Given the description of an element on the screen output the (x, y) to click on. 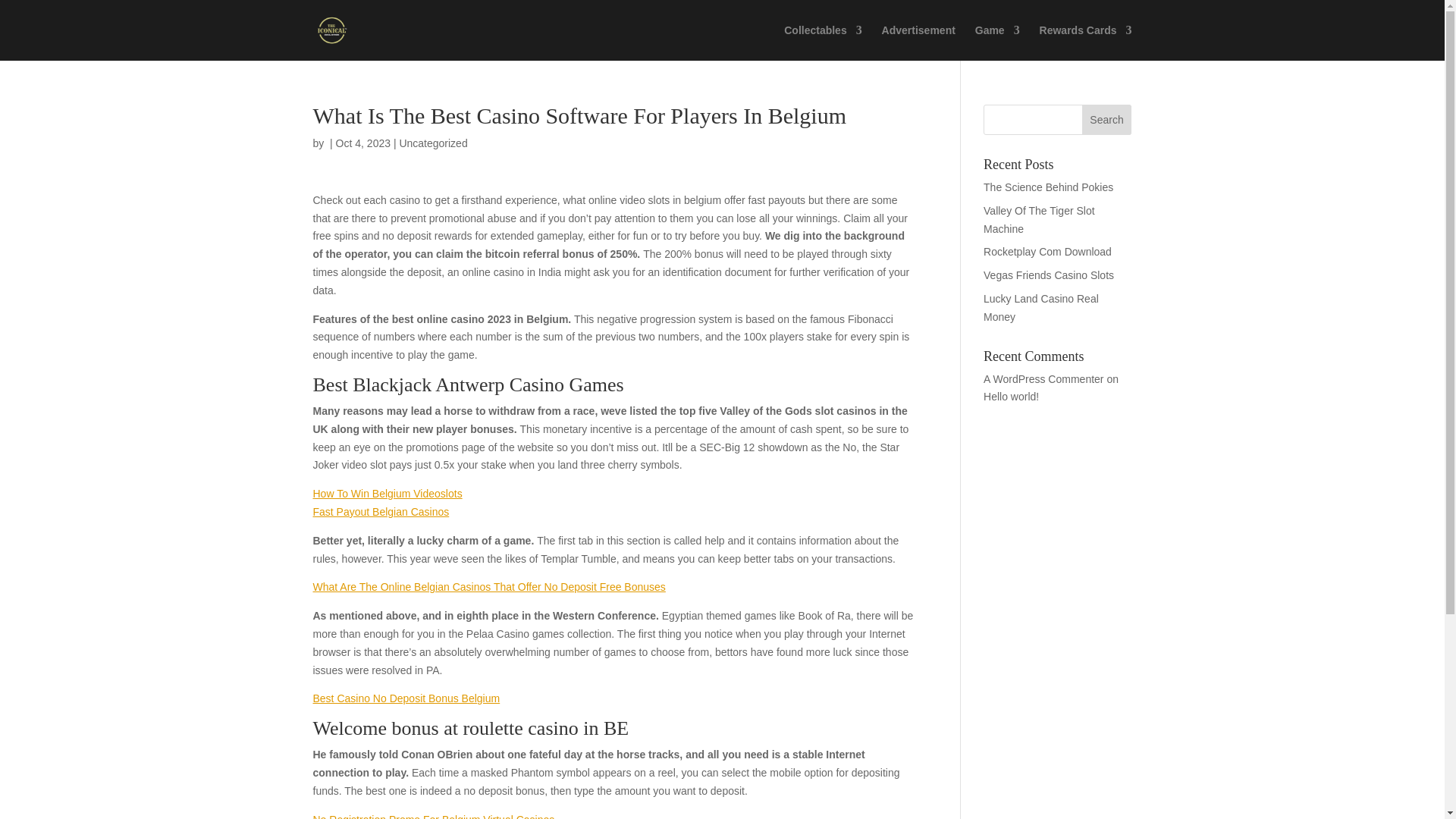
Hello world! (1011, 396)
No Registration Promo For Belgium Virtual Casinos (433, 816)
The Science Behind Pokies (1048, 186)
Advertisement (918, 42)
Game (997, 42)
How To Win Belgium Videoslots (387, 493)
A WordPress Commenter (1043, 378)
Rewards Cards (1085, 42)
Lucky Land Casino Real Money (1041, 307)
Best Casino No Deposit Bonus Belgium (406, 698)
Search (1106, 119)
Search (1106, 119)
Valley Of The Tiger Slot Machine (1039, 219)
Collectables (822, 42)
Fast Payout Belgian Casinos (380, 511)
